Given the description of an element on the screen output the (x, y) to click on. 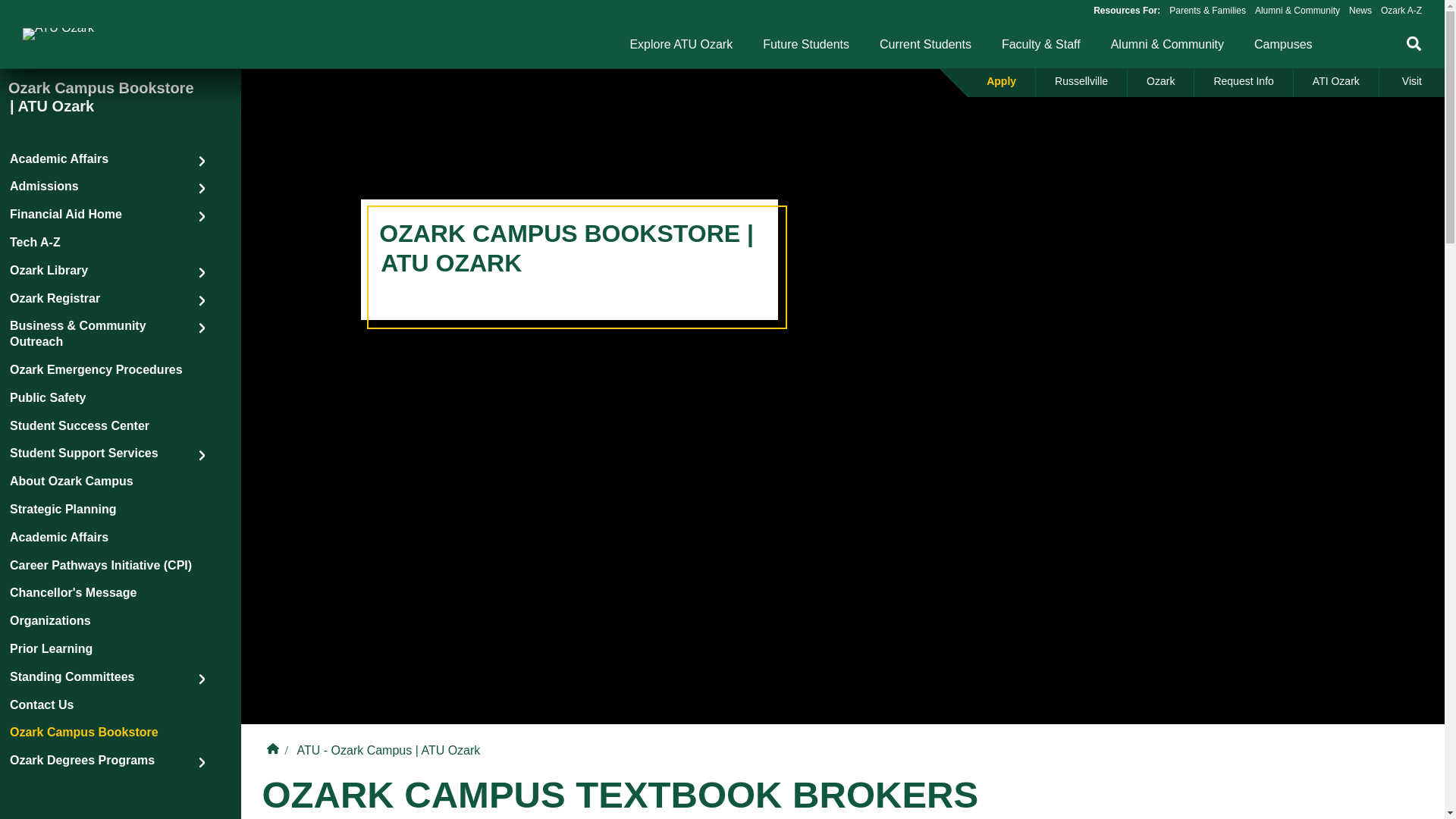
Ozark A-Z (1401, 9)
News (1360, 9)
Explore ATU Ozark (680, 43)
Future Students (805, 43)
Current Students (925, 43)
